Given the description of an element on the screen output the (x, y) to click on. 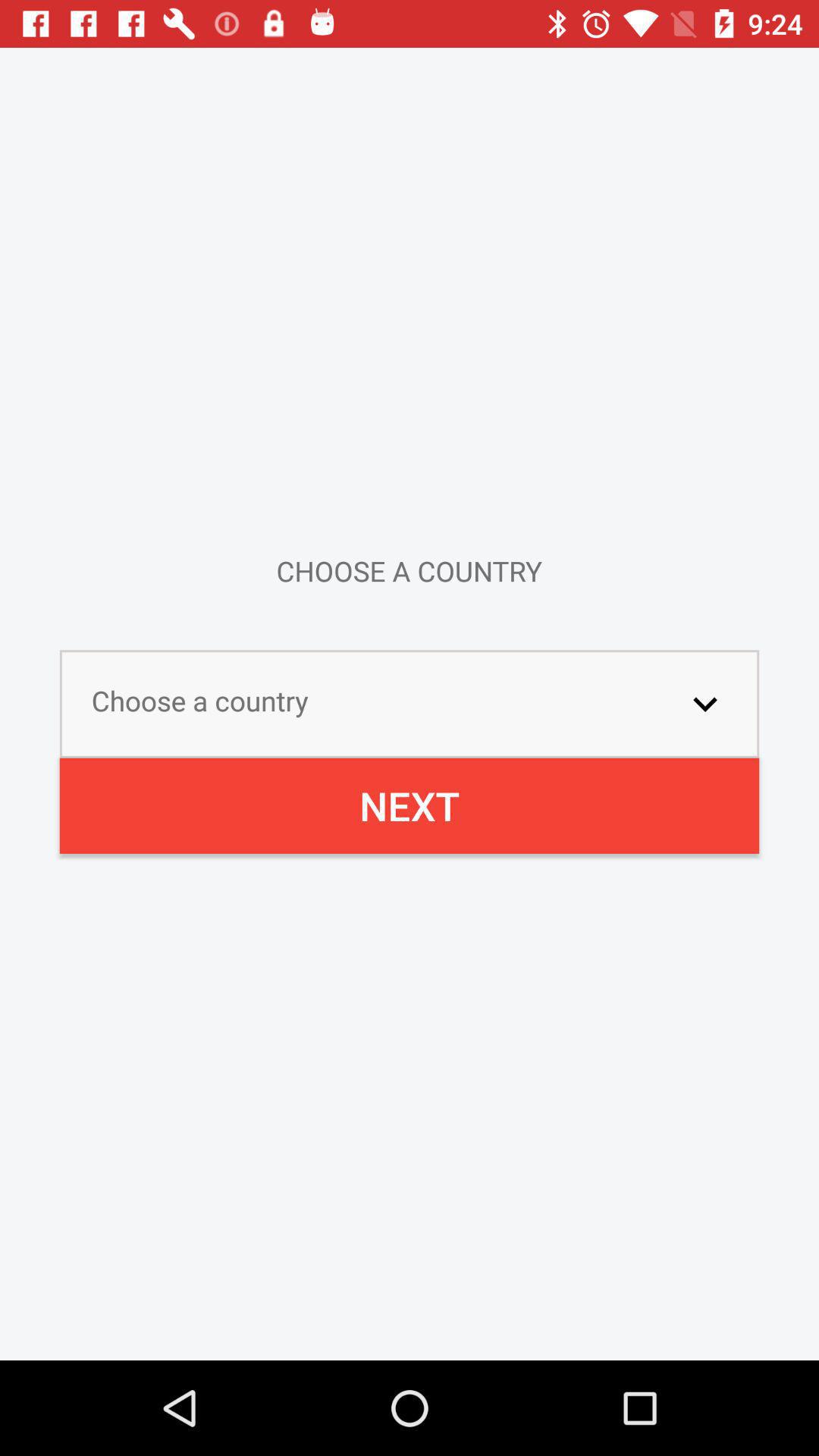
choose the item next to choose a country icon (705, 704)
